Given the description of an element on the screen output the (x, y) to click on. 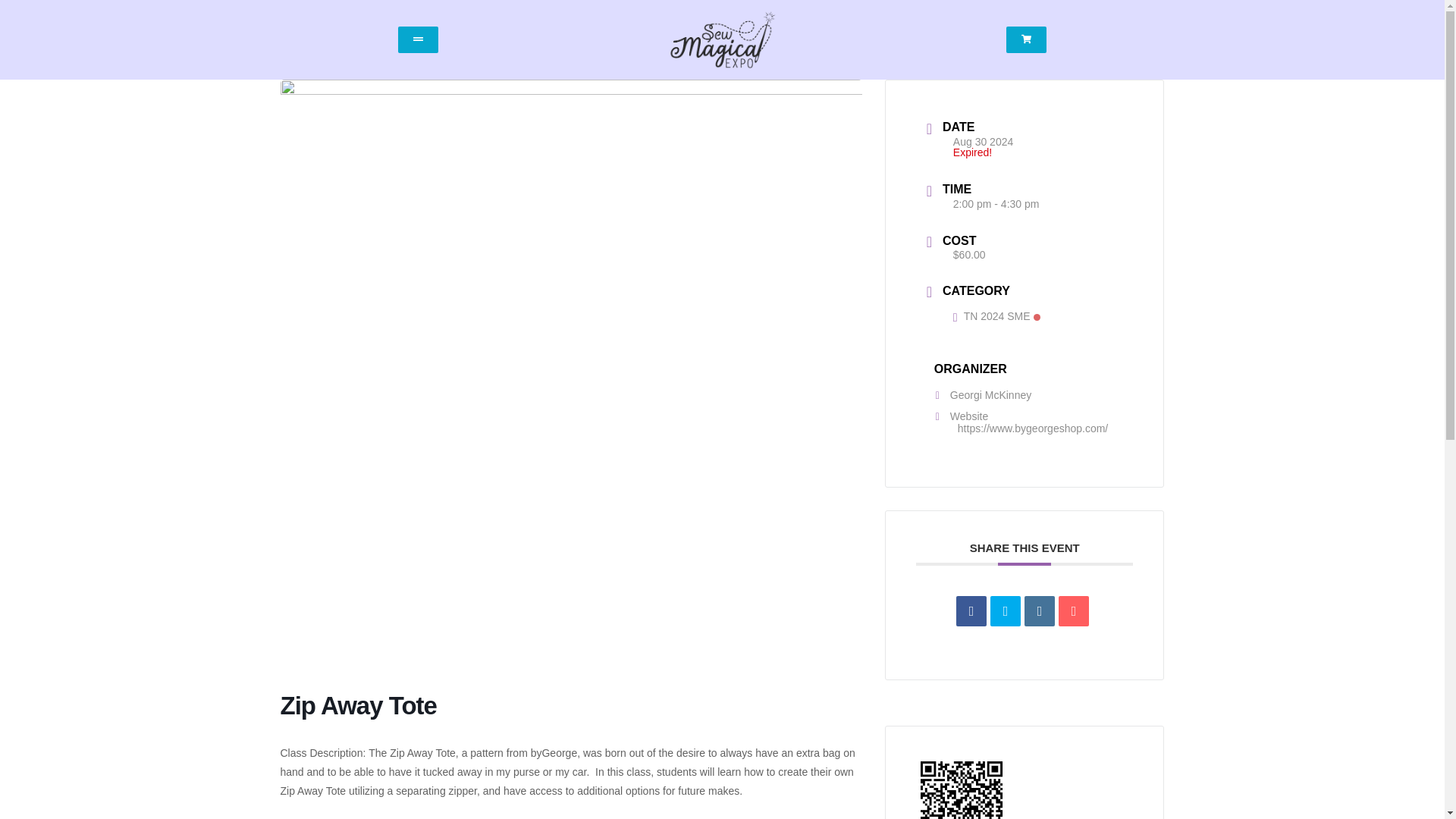
TN 2024 SME  (997, 316)
Email (1073, 611)
Share on Facebook (971, 611)
Linkedin (1039, 611)
Tweet (1005, 611)
